Given the description of an element on the screen output the (x, y) to click on. 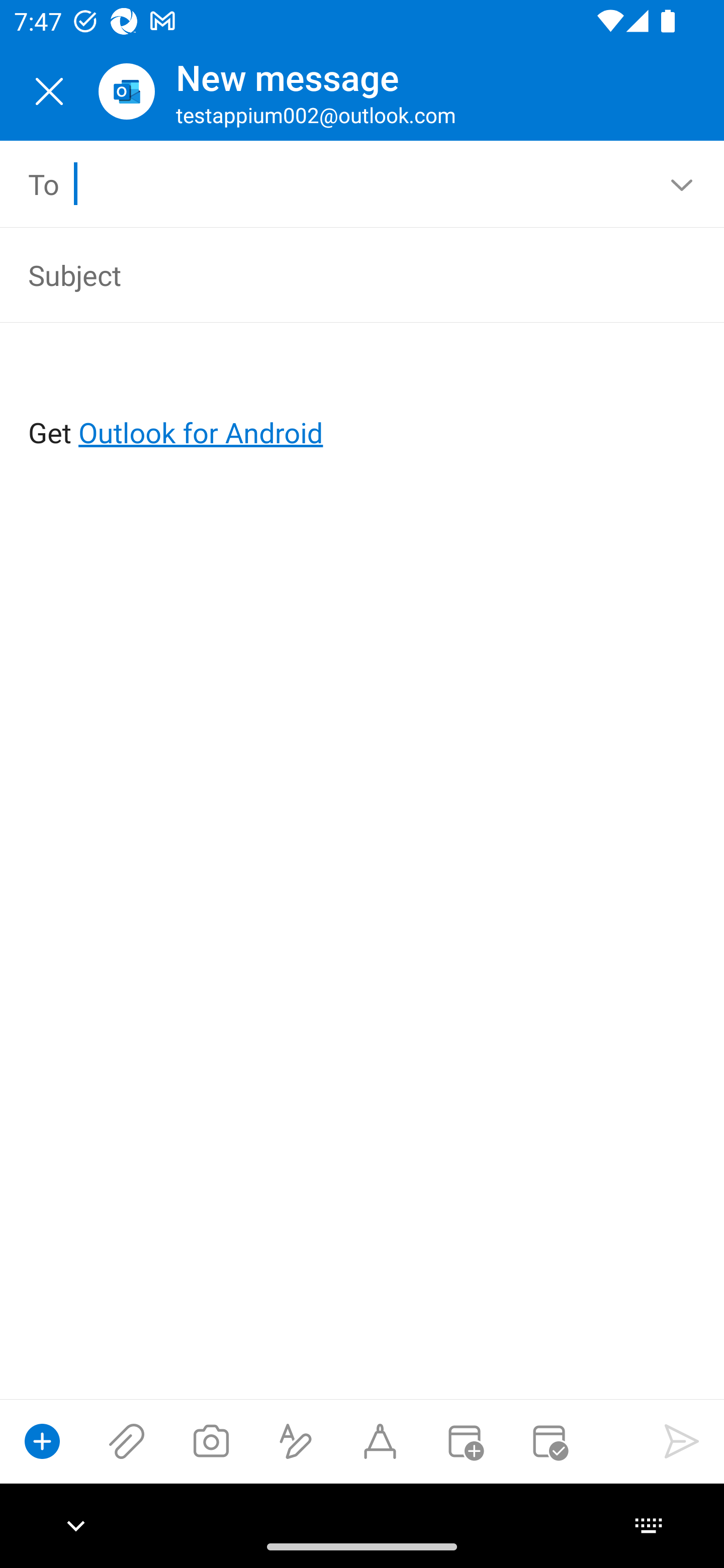
Close (49, 91)
Subject (333, 274)
Show compose options (42, 1440)
Attach files (126, 1440)
Take a photo (210, 1440)
Show formatting options (295, 1440)
Start Ink compose (380, 1440)
Convert to event (464, 1440)
Send availability (548, 1440)
Send (681, 1440)
